Given the description of an element on the screen output the (x, y) to click on. 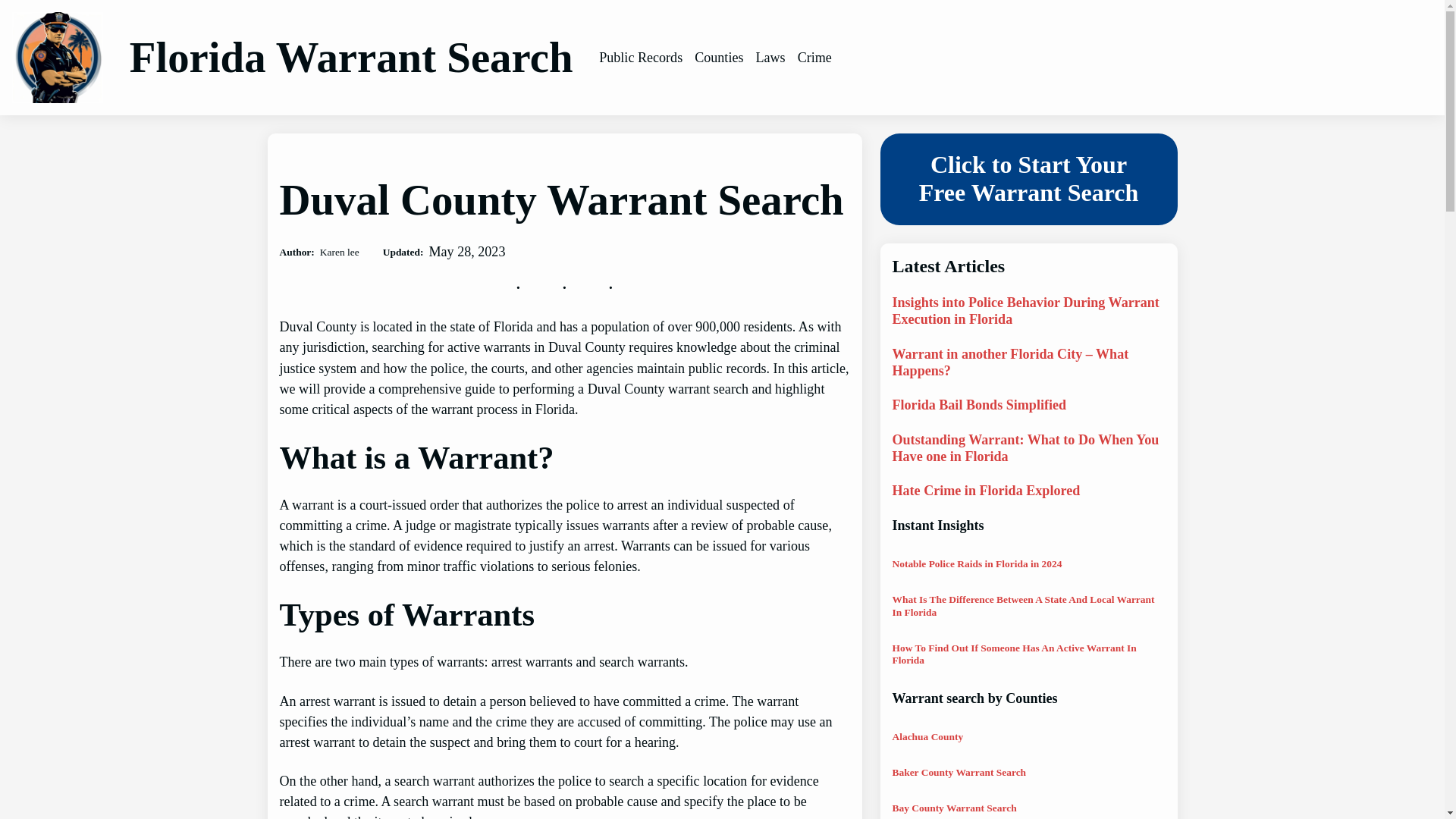
Notable Police Raids in Florida in 2024 (976, 563)
Crime (814, 57)
Bay County Warrant Search (953, 808)
Counties (718, 57)
Florida Warrant Search (351, 57)
Hate Crime in Florida Explored (985, 491)
How To Find Out If Someone Has An Active Warrant In Florida (1027, 654)
Outstanding Warrant: What to Do When You Have one in Florida (1027, 448)
Baker County Warrant Search (958, 772)
